Given the description of an element on the screen output the (x, y) to click on. 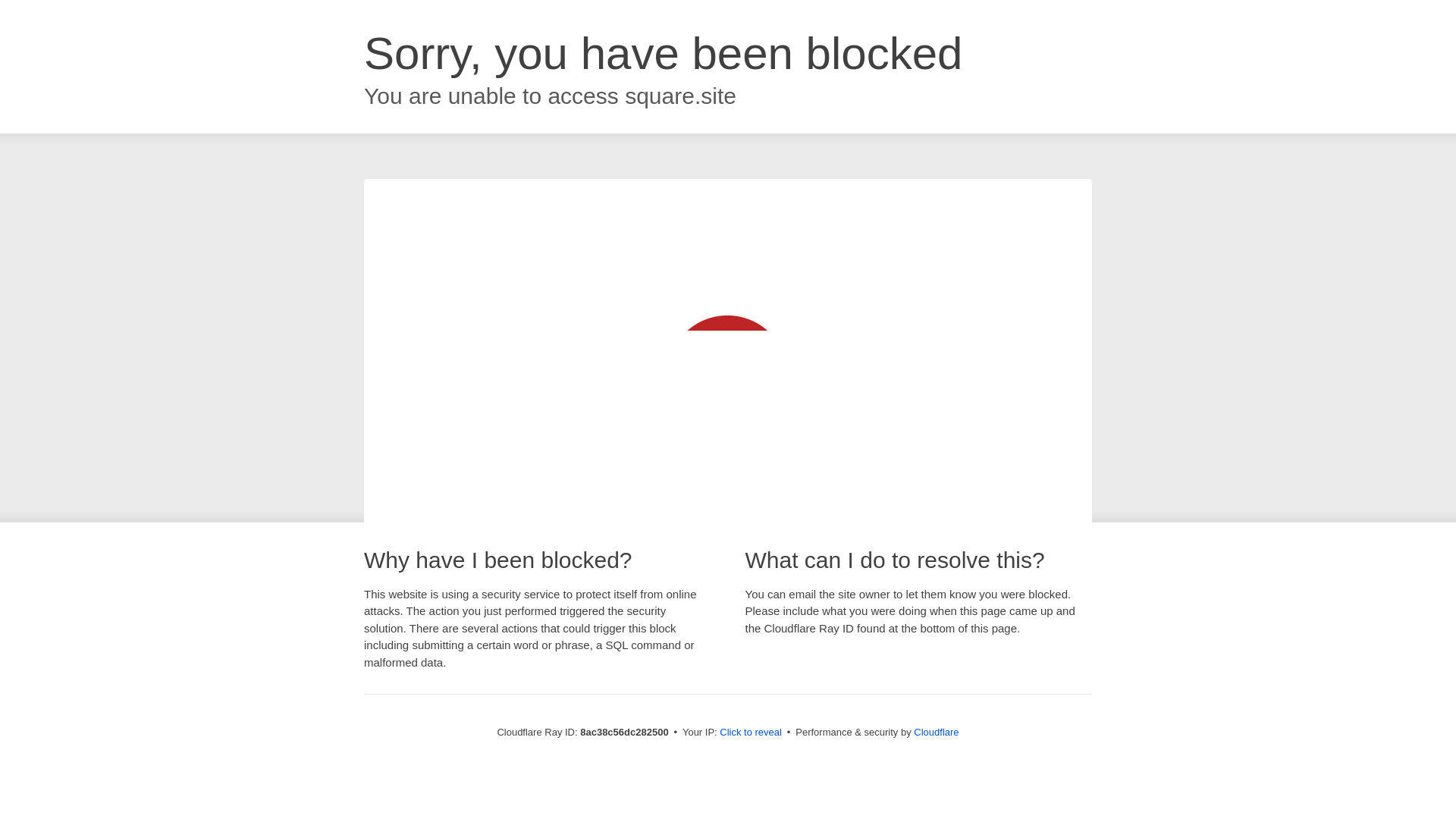
Cloudflare (936, 731)
Click to reveal (750, 732)
